Given the description of an element on the screen output the (x, y) to click on. 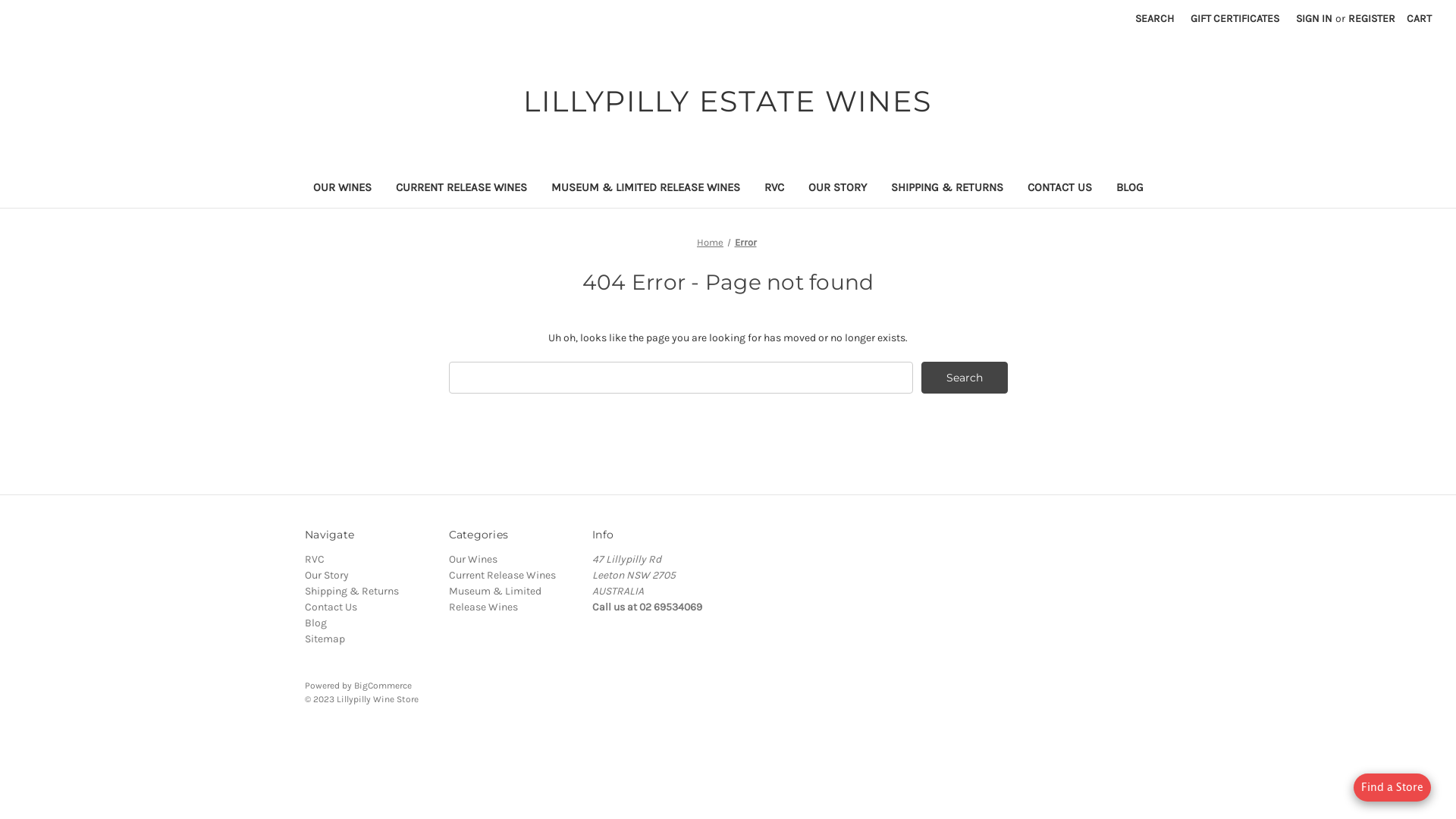
SHIPPING & RETURNS Element type: text (946, 188)
Museum & Limited Release Wines Element type: text (494, 598)
Sitemap Element type: text (324, 638)
Shipping & Returns Element type: text (351, 590)
CART Element type: text (1419, 18)
Home Element type: text (709, 241)
OUR WINES Element type: text (341, 188)
MUSEUM & LIMITED RELEASE WINES Element type: text (644, 188)
BLOG Element type: text (1129, 188)
Search Element type: text (964, 377)
GIFT CERTIFICATES Element type: text (1234, 18)
SEARCH Element type: text (1154, 18)
Blog Element type: text (315, 622)
Current Release Wines Element type: text (501, 574)
CONTACT US Element type: text (1058, 188)
OUR STORY Element type: text (837, 188)
Our Wines Element type: text (472, 558)
Our Story Element type: text (326, 574)
Error Element type: text (745, 241)
CURRENT RELEASE WINES Element type: text (461, 188)
Contact Us Element type: text (330, 606)
LILLYPILLY ESTATE WINES Element type: text (727, 100)
BigCommerce Element type: text (382, 685)
REGISTER Element type: text (1371, 18)
RVC Element type: text (314, 558)
SIGN IN Element type: text (1313, 18)
RVC Element type: text (774, 188)
